Given the description of an element on the screen output the (x, y) to click on. 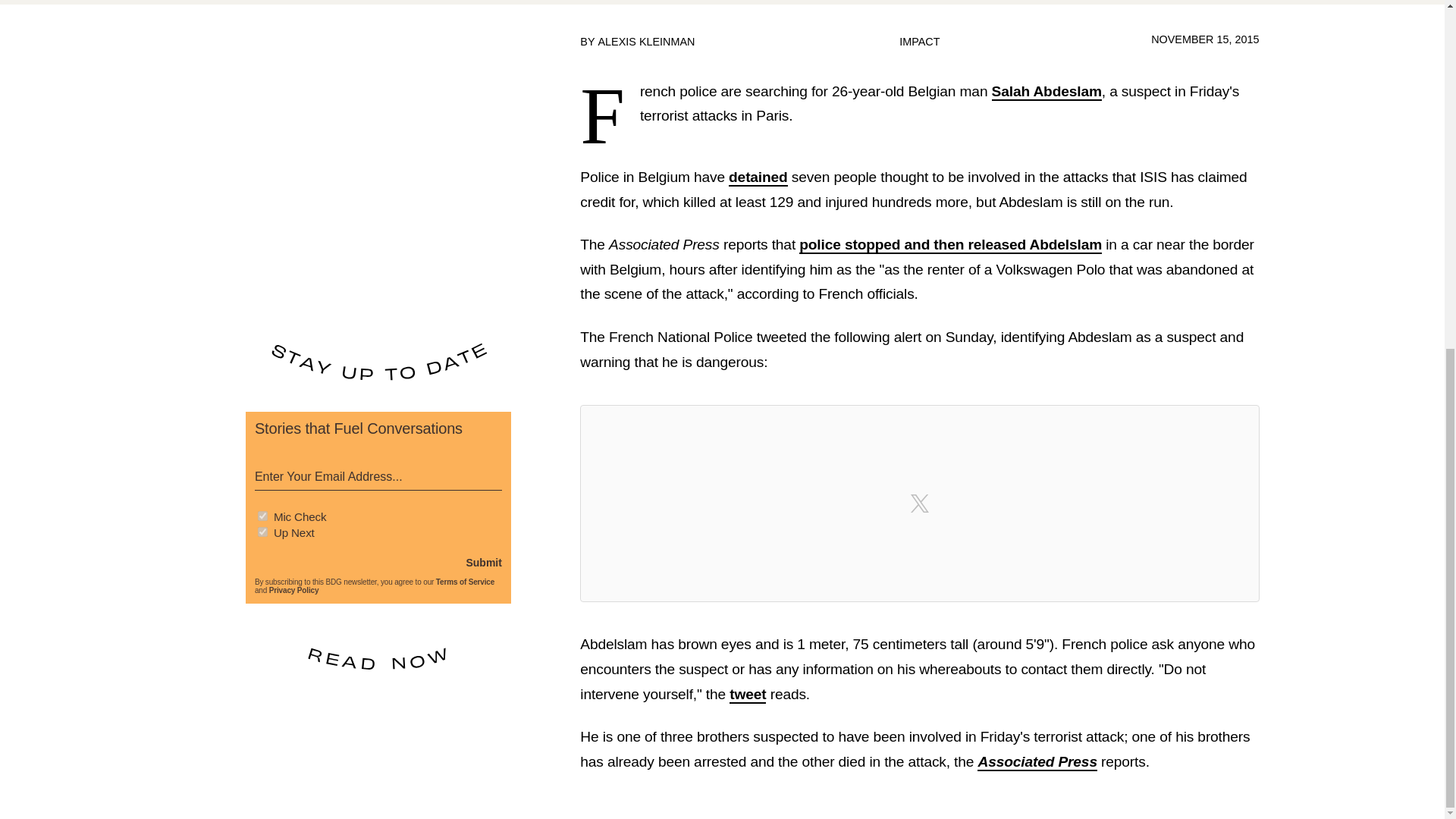
Submit (482, 562)
Privacy Policy (293, 590)
Salah Abdeslam (1046, 91)
ALEXIS KLEINMAN (645, 41)
Terms of Service (465, 582)
tweet (747, 694)
police stopped and then released Abdelslam (950, 244)
detained (758, 177)
Associated Press (1036, 762)
